Given the description of an element on the screen output the (x, y) to click on. 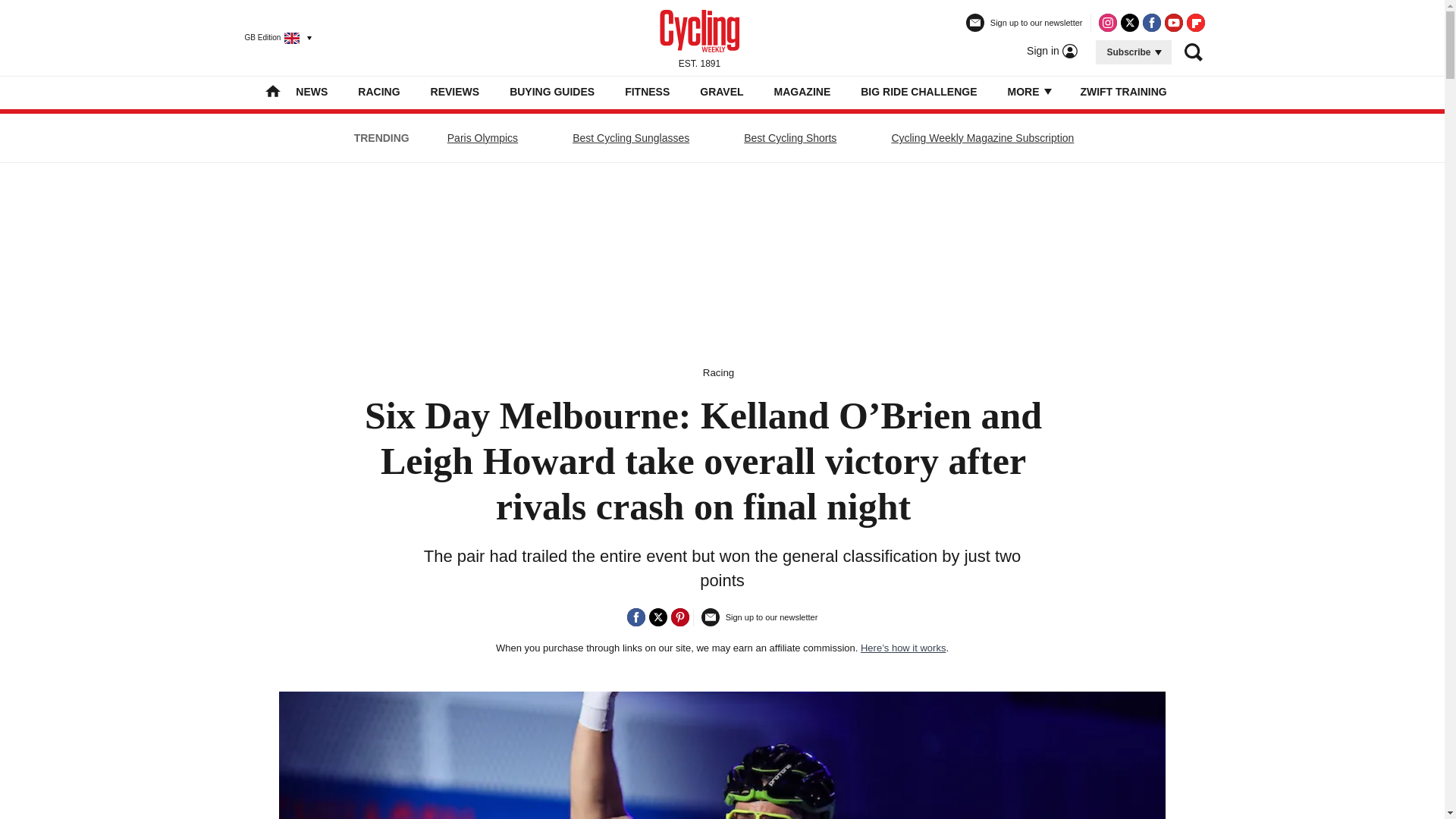
REVIEWS (455, 91)
BUYING GUIDES (551, 91)
BIG RIDE CHALLENGE (918, 91)
Paris Olympics (482, 137)
FITNESS (646, 91)
Best Cycling Sunglasses (630, 137)
Best Cycling Shorts (789, 137)
GB Edition (271, 37)
GRAVEL (721, 91)
Cycling Weekly Magazine Subscription (981, 137)
Racing (719, 372)
MAGAZINE (802, 91)
NEWS (311, 91)
Sign up to our newsletter (1024, 28)
EST. 1891 (699, 37)
